Given the description of an element on the screen output the (x, y) to click on. 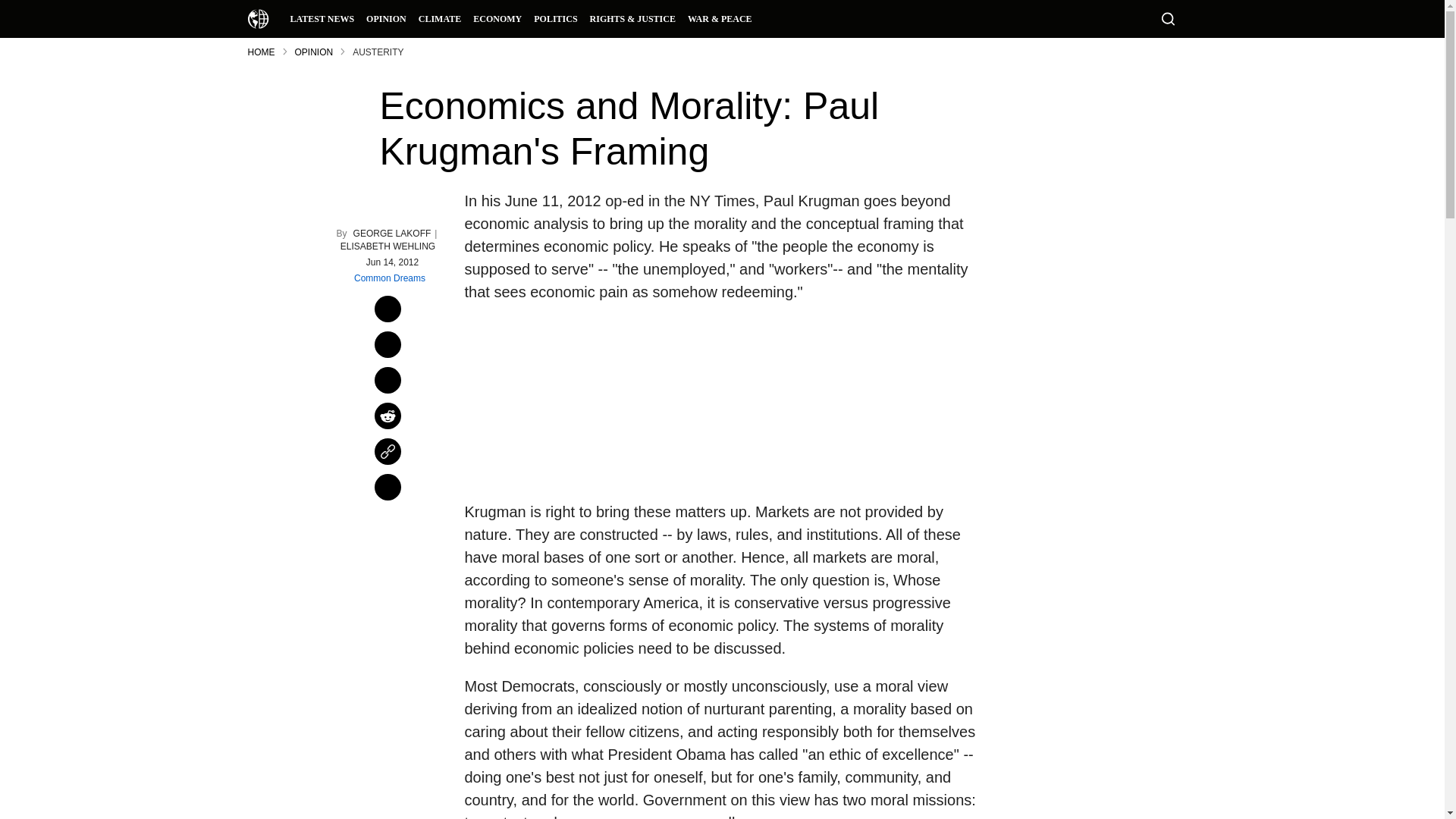
Common Dreams (257, 17)
Nobel laureate and NY Times columnist Paul Krugman. (573, 401)
Copy this link to clipboard (387, 451)
